Given the description of an element on the screen output the (x, y) to click on. 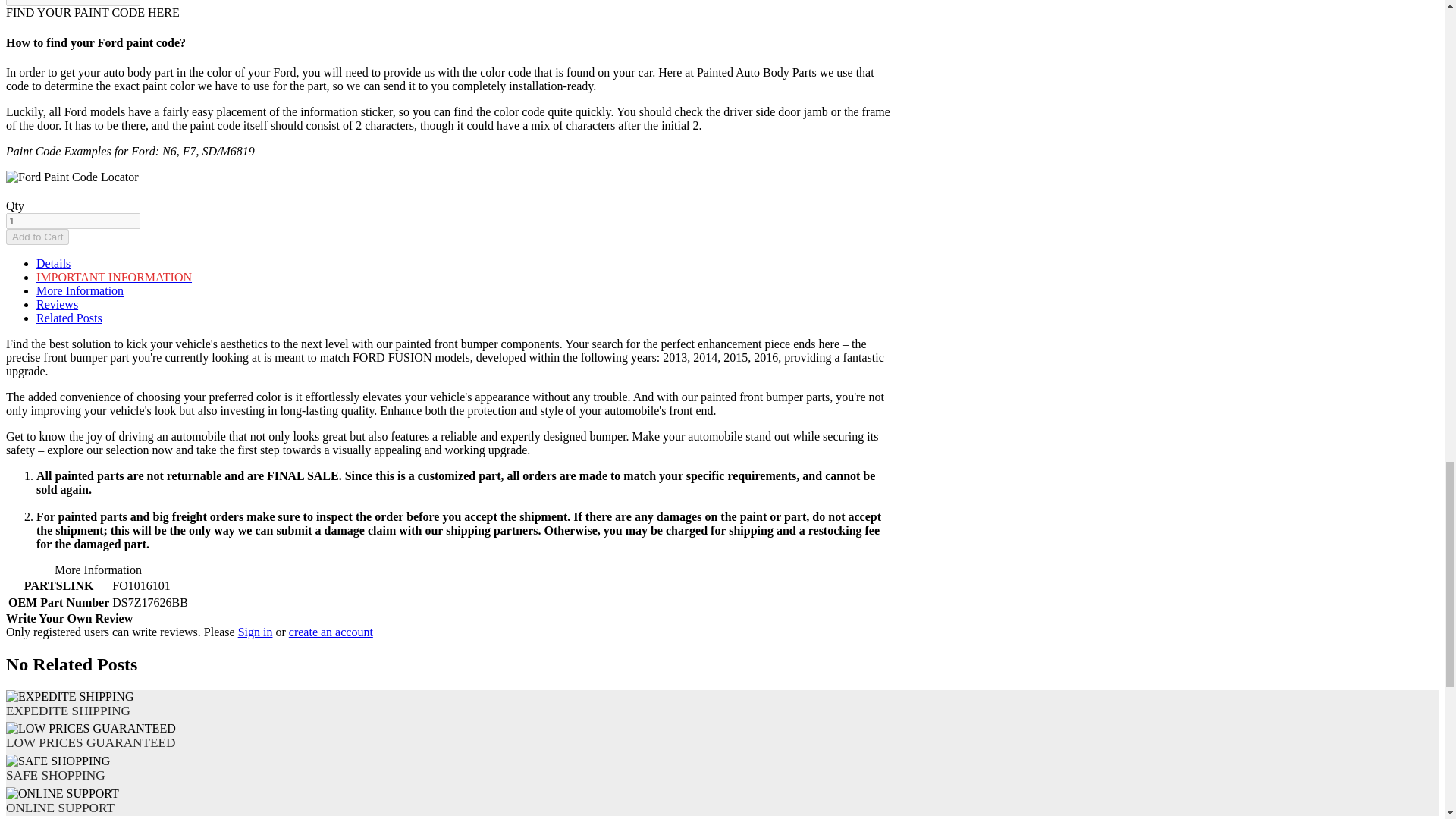
Add to Cart (36, 236)
Paint Code Locator (92, 11)
1 (72, 220)
Qty (72, 220)
